Given the description of an element on the screen output the (x, y) to click on. 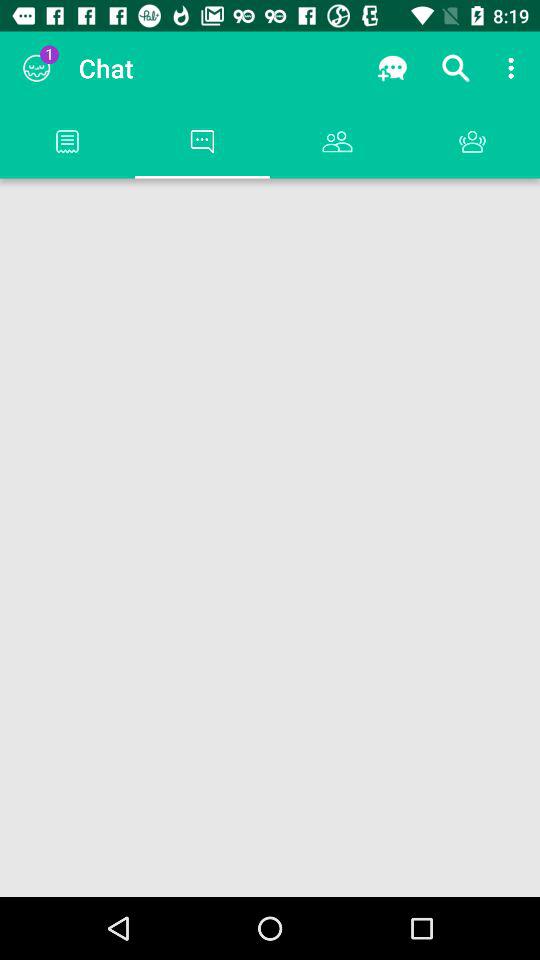
turn off item to the left of chat (36, 68)
